Given the description of an element on the screen output the (x, y) to click on. 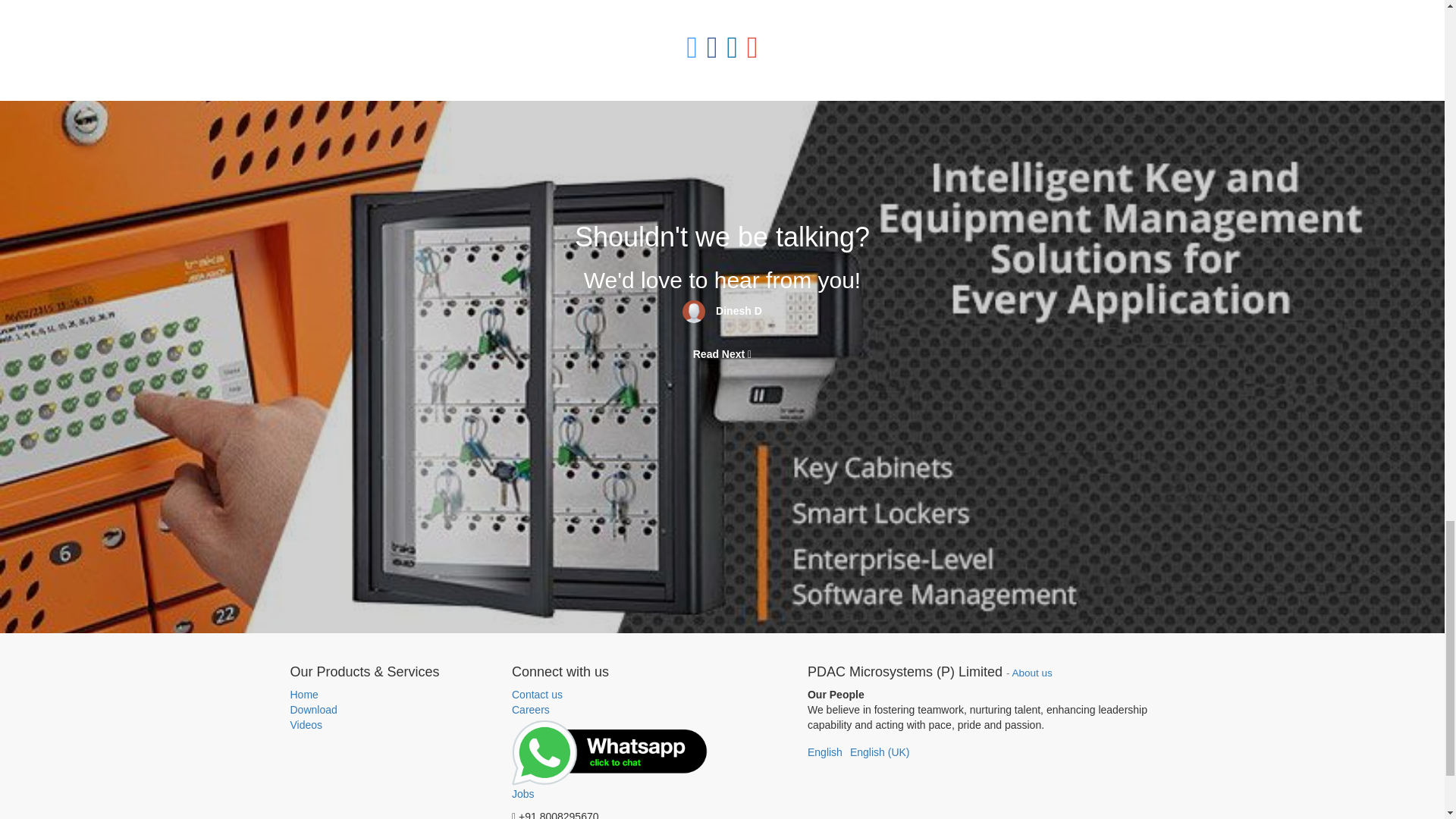
Jobs (611, 760)
English (825, 752)
Contact us (611, 694)
Careers (531, 709)
Videos (389, 725)
Home (389, 694)
About us (1031, 672)
Download (389, 710)
